Given the description of an element on the screen output the (x, y) to click on. 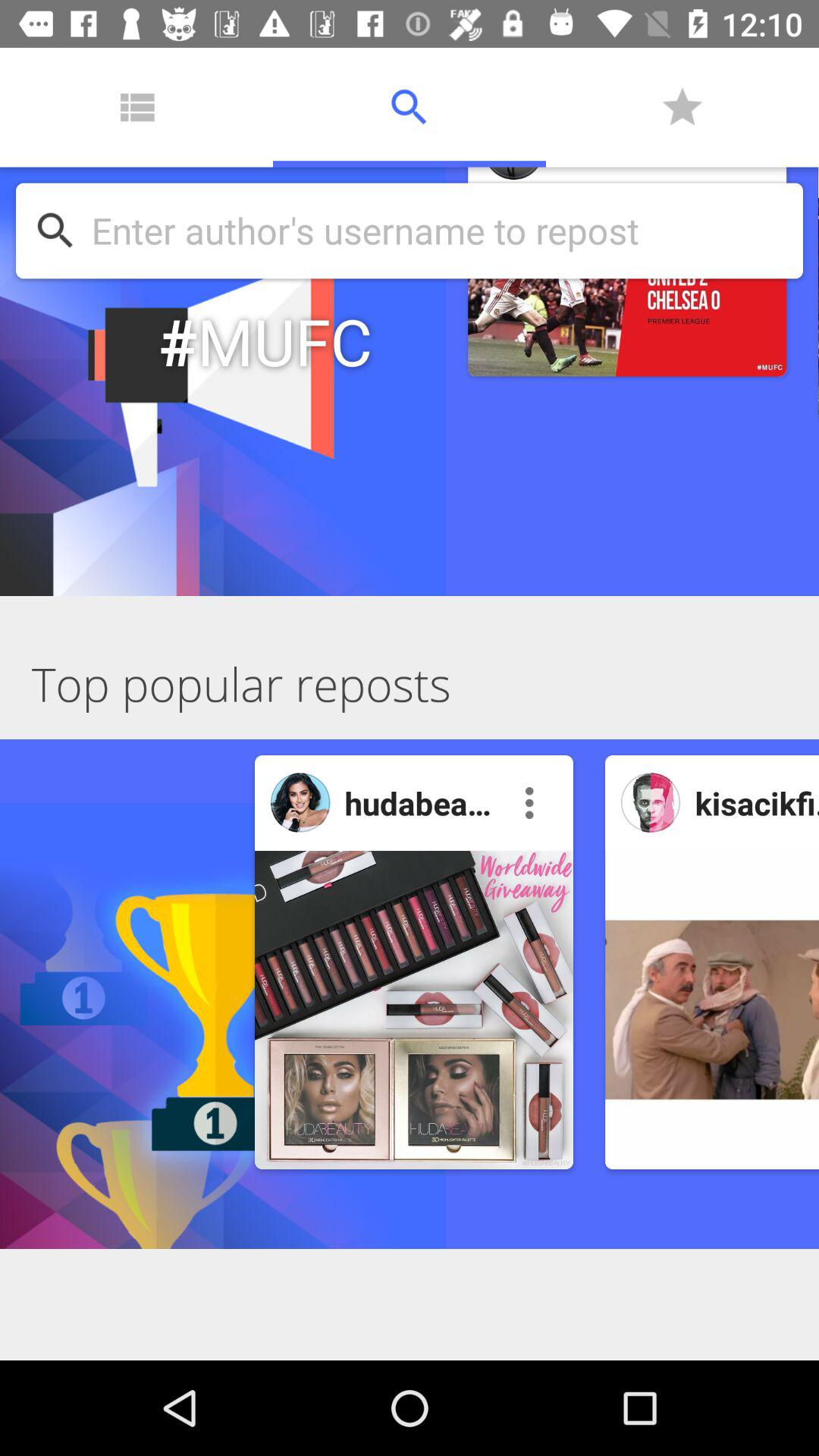
go to hudabea profile (300, 802)
